Given the description of an element on the screen output the (x, y) to click on. 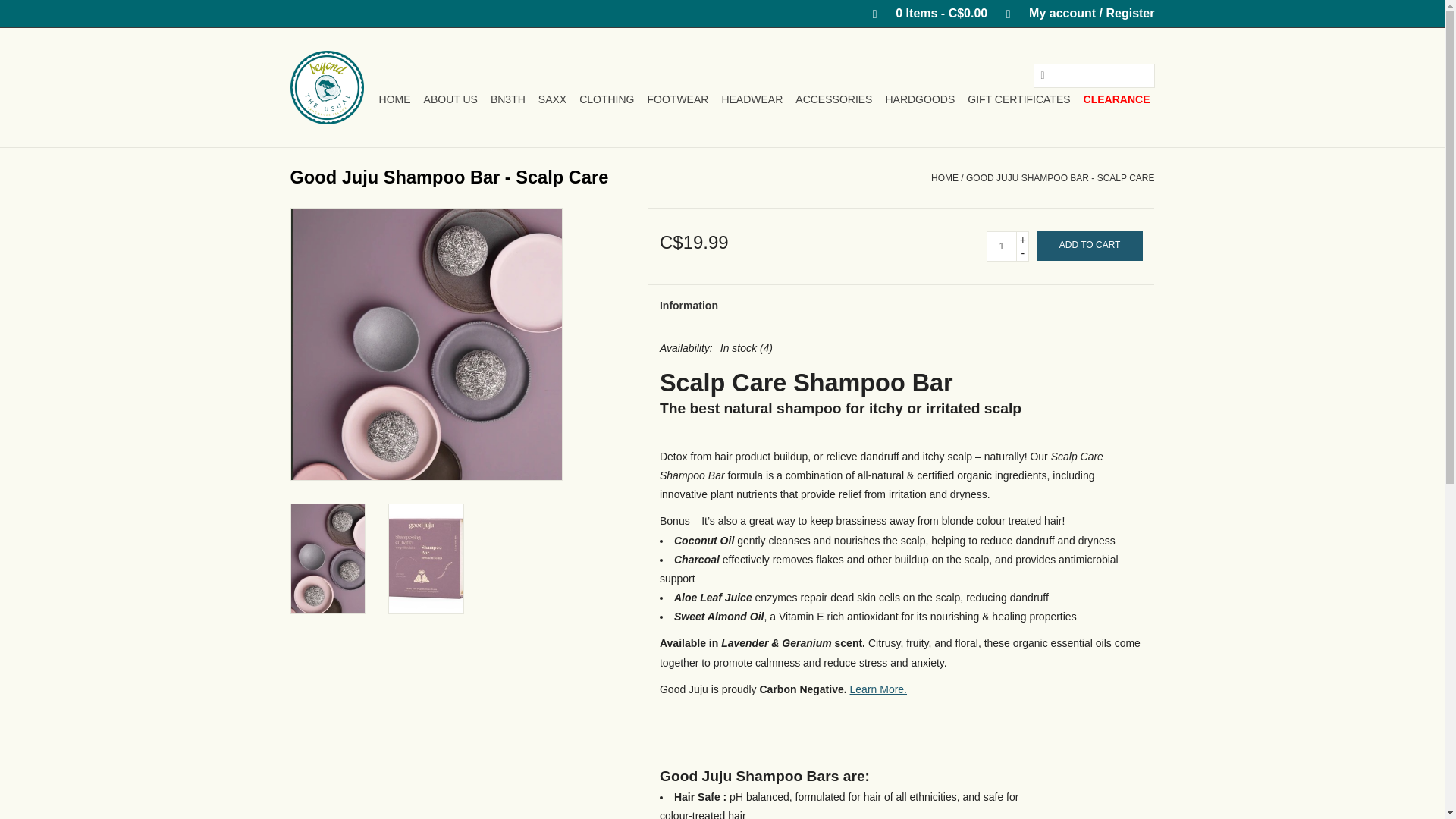
ABOUT US (450, 98)
CLOTHING (607, 98)
Cart (924, 12)
SAXX (552, 98)
BN3TH (507, 98)
My account (1072, 12)
1 (1001, 245)
BN3TH (507, 98)
Clothing (607, 98)
About us (450, 98)
